Given the description of an element on the screen output the (x, y) to click on. 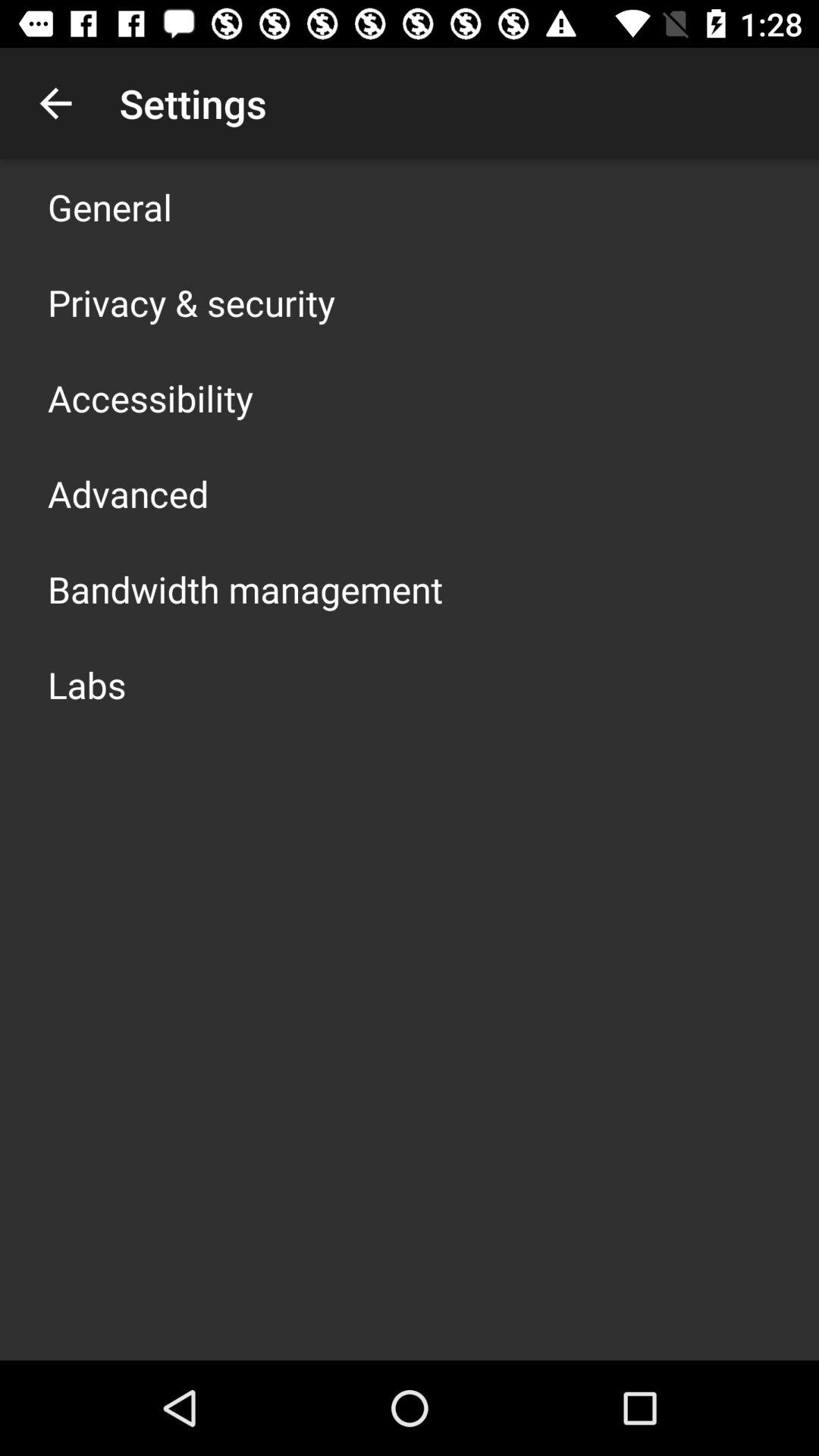
flip until the labs item (86, 684)
